Given the description of an element on the screen output the (x, y) to click on. 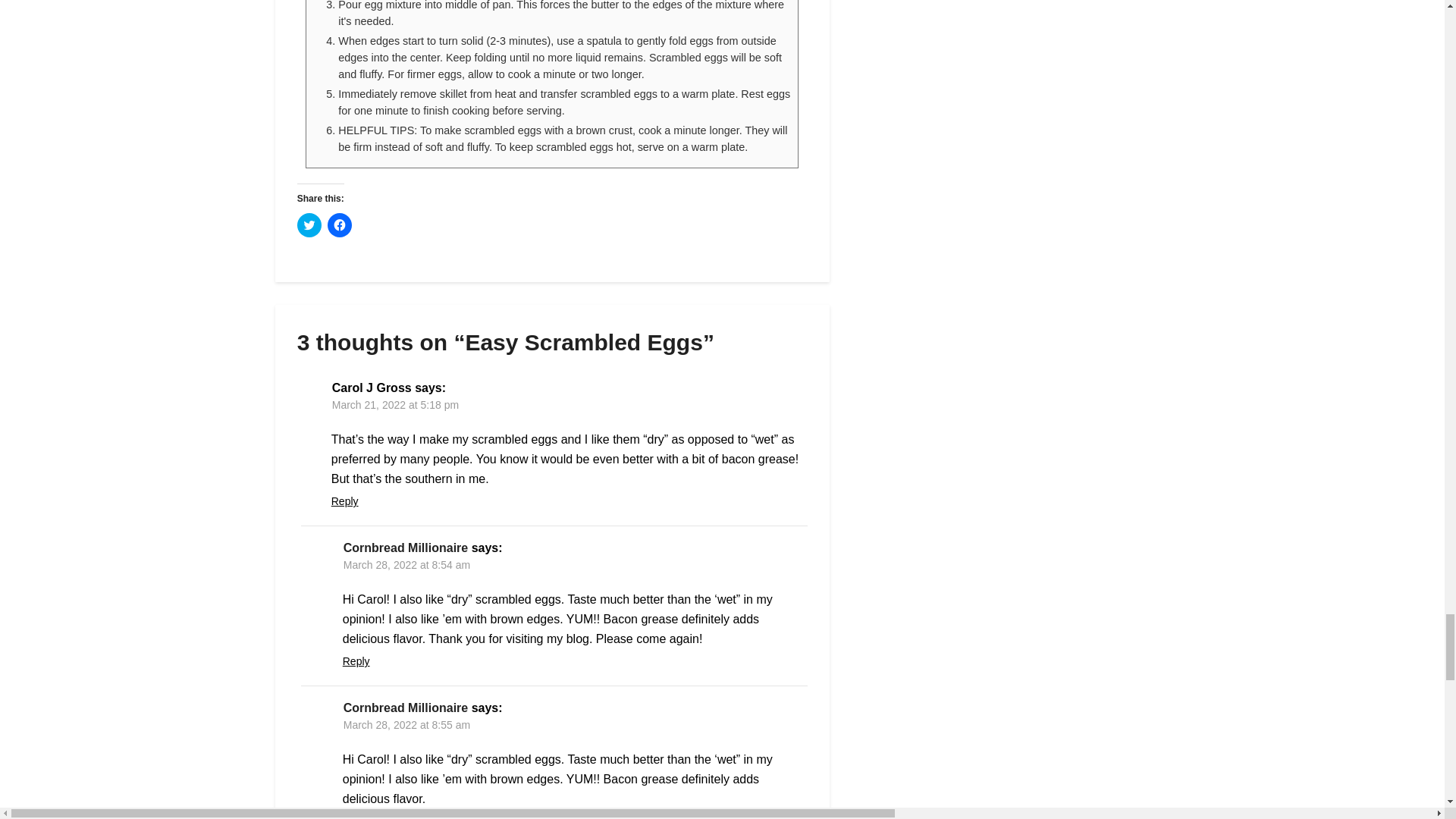
March 28, 2022 at 8:54 am (406, 564)
Reply (344, 500)
Reply (355, 816)
Click to share on Twitter (309, 224)
Cornbread Millionaire (405, 707)
March 21, 2022 at 5:18 pm (394, 404)
March 28, 2022 at 8:55 am (406, 725)
Cornbread Millionaire (405, 547)
Click to share on Facebook (339, 224)
Reply (355, 661)
